Given the description of an element on the screen output the (x, y) to click on. 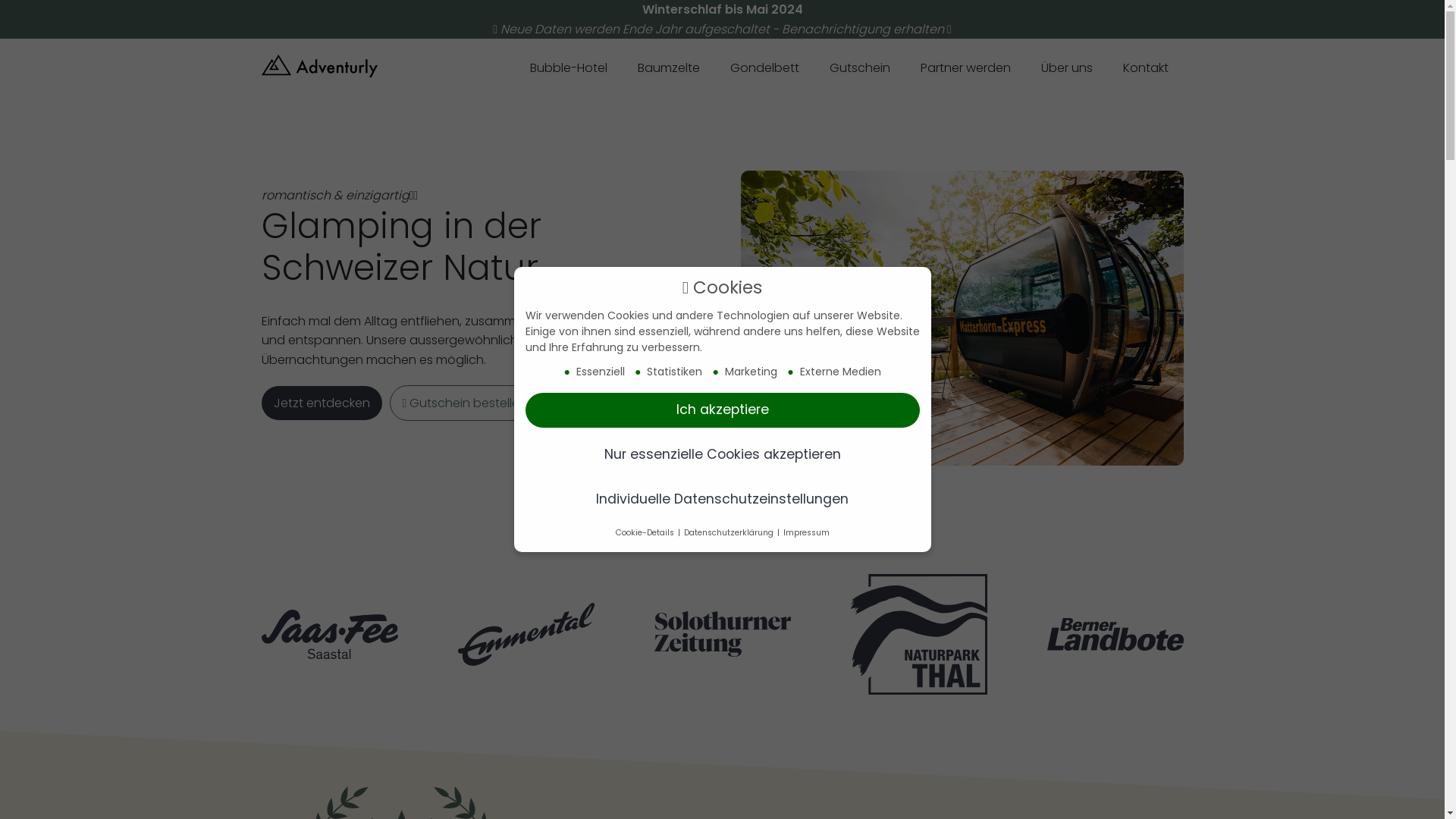
Gutschein Element type: text (859, 69)
Partner werden Element type: text (965, 69)
Ich akzeptiere Element type: text (721, 409)
Baumzelte Element type: text (668, 69)
Kontakt Element type: text (1144, 69)
Individuelle Datenschutzeinstellungen Element type: text (721, 499)
Cookie-Details Element type: text (645, 532)
Benachrichtigung erhalten Element type: text (862, 28)
Gondelbett Element type: text (763, 69)
Nur essenzielle Cookies akzeptieren Element type: text (721, 454)
Bubble-Hotel Element type: text (567, 69)
Jetzt entdecken Element type: text (320, 402)
Impressum Element type: text (805, 532)
